Given the description of an element on the screen output the (x, y) to click on. 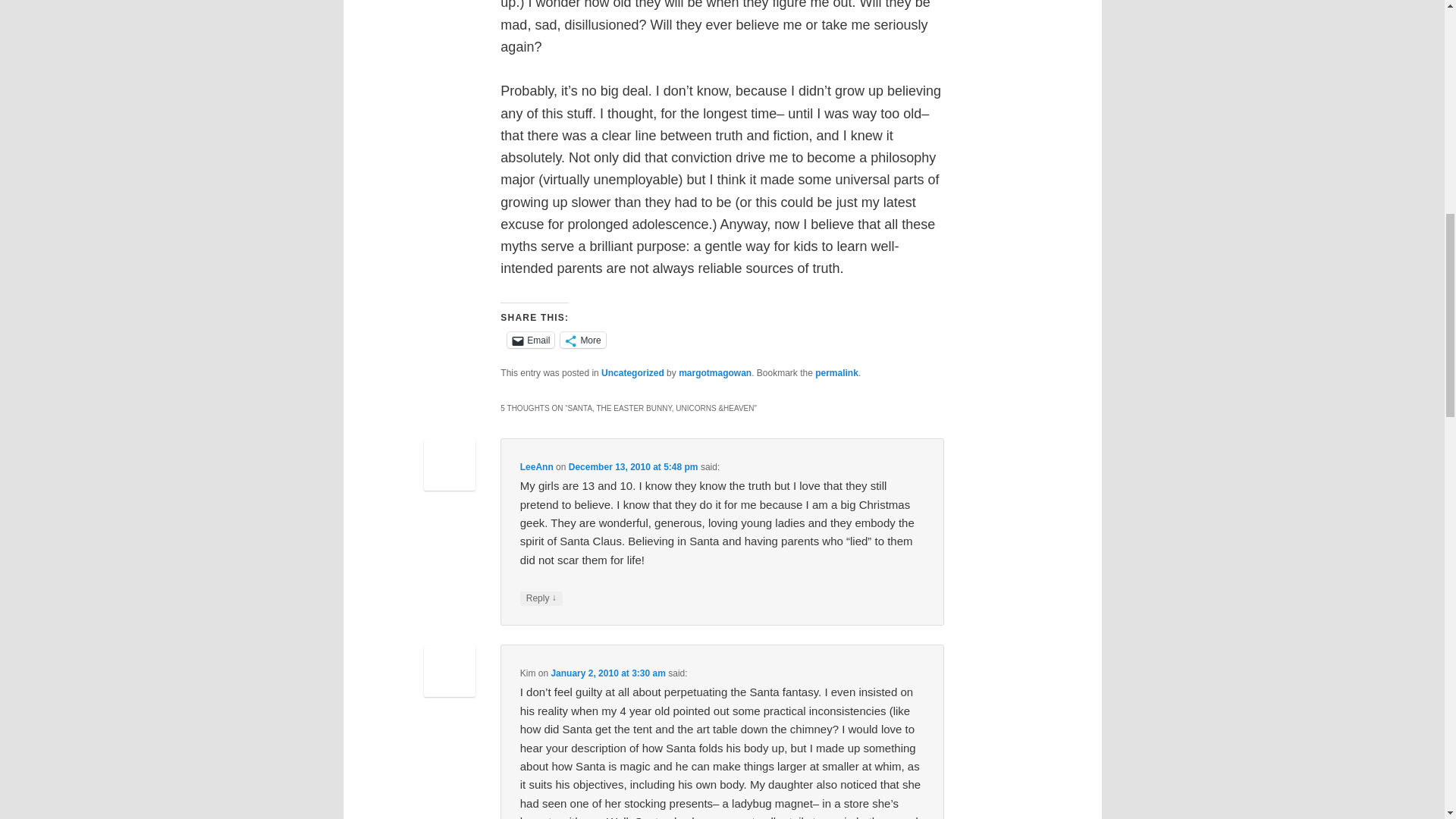
margotmagowan (714, 372)
More (582, 340)
Uncategorized (632, 372)
January 2, 2010 at 3:30 am (607, 673)
permalink (837, 372)
December 13, 2010 at 5:48 pm (633, 466)
Click to email a link to a friend (530, 340)
LeeAnn (536, 466)
Email (530, 340)
